Given the description of an element on the screen output the (x, y) to click on. 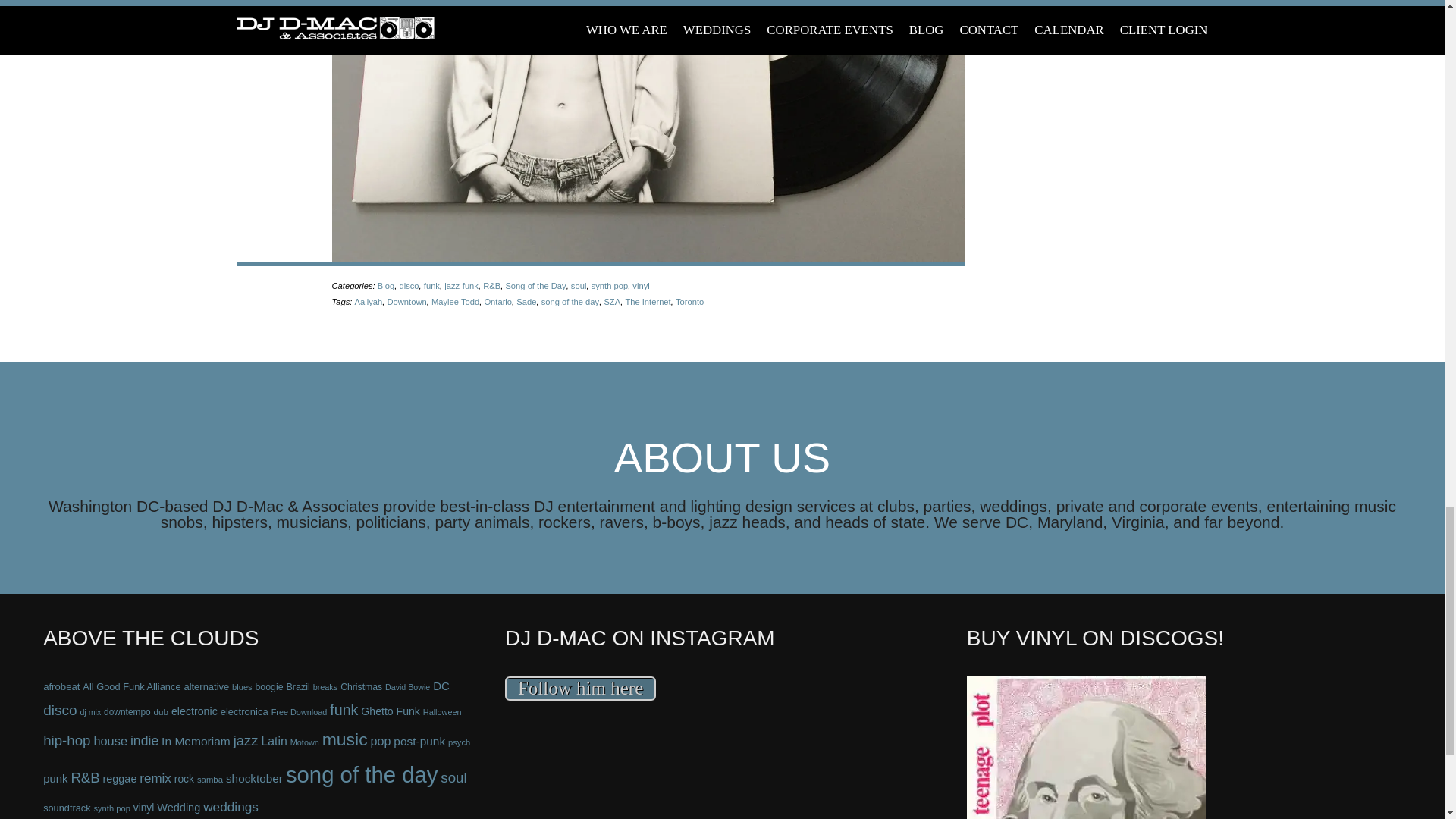
funk (431, 285)
Blog (385, 285)
disco (408, 285)
jazz-funk (461, 285)
